Given the description of an element on the screen output the (x, y) to click on. 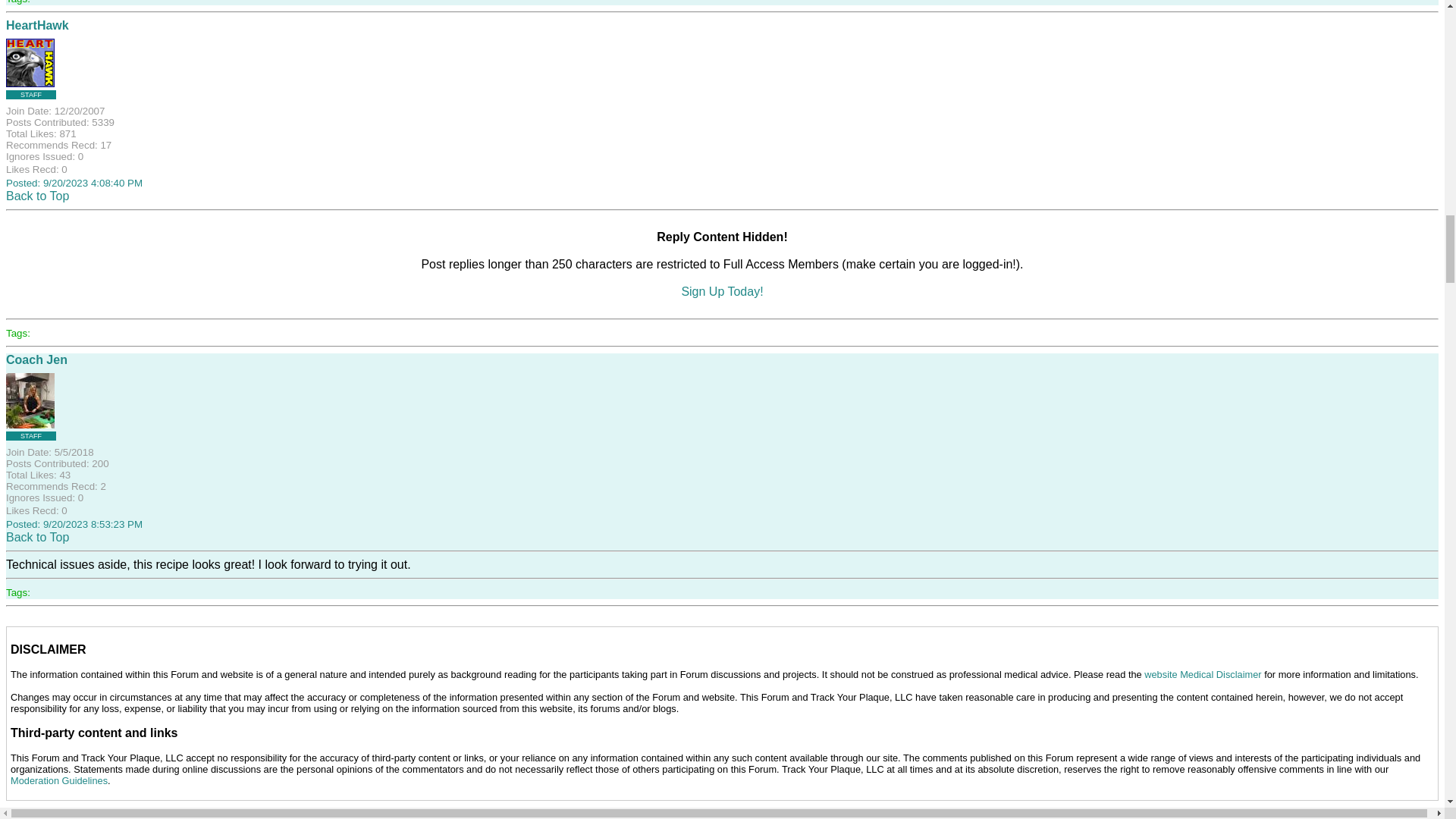
permalink (73, 523)
permalink (73, 183)
